Given the description of an element on the screen output the (x, y) to click on. 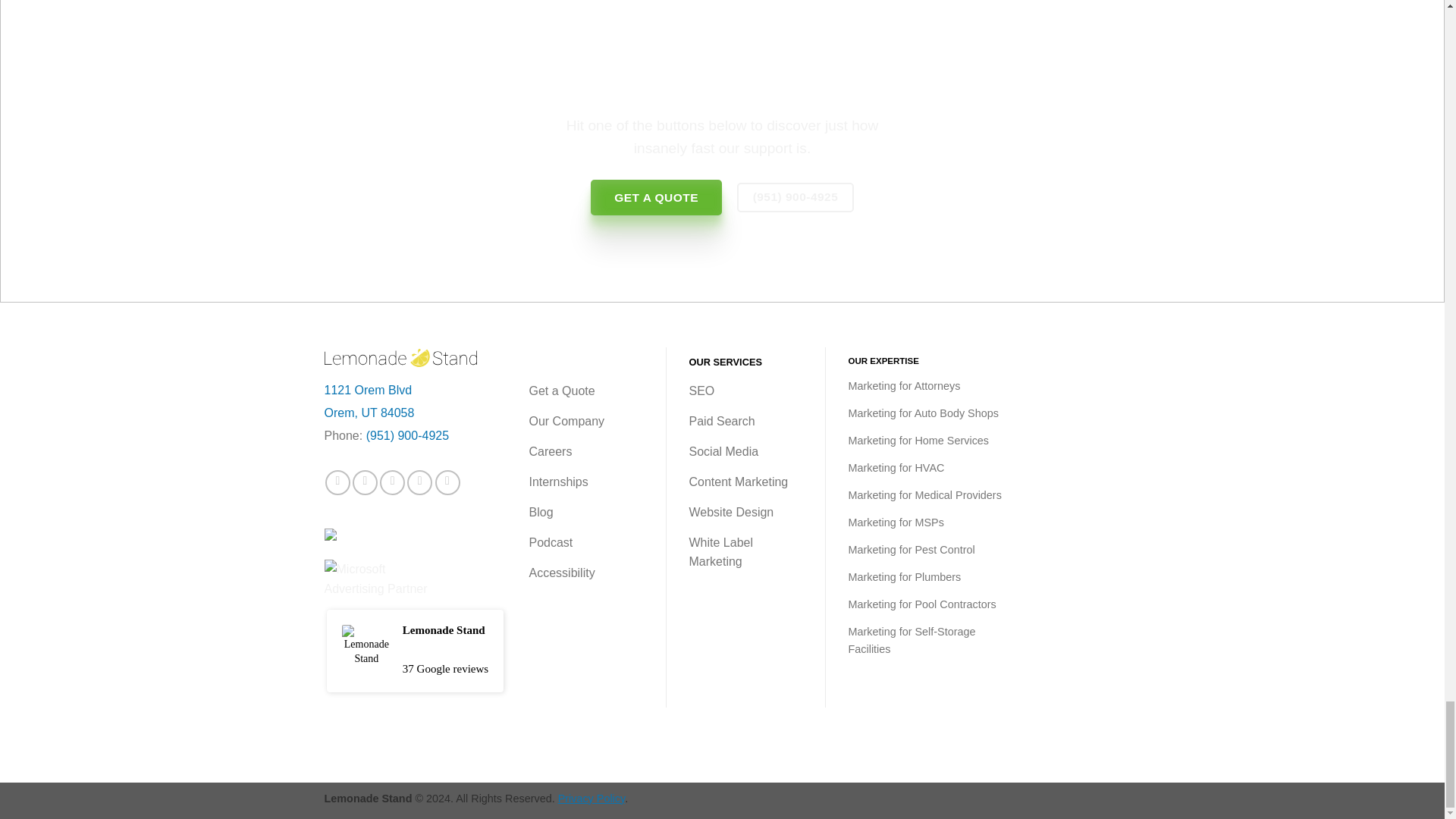
Follow on Facebook (337, 482)
Follow on Twitter (392, 482)
Follow on Instagram (364, 482)
Follow on LinkedIn (419, 482)
Follow on YouTube (447, 482)
